Given the description of an element on the screen output the (x, y) to click on. 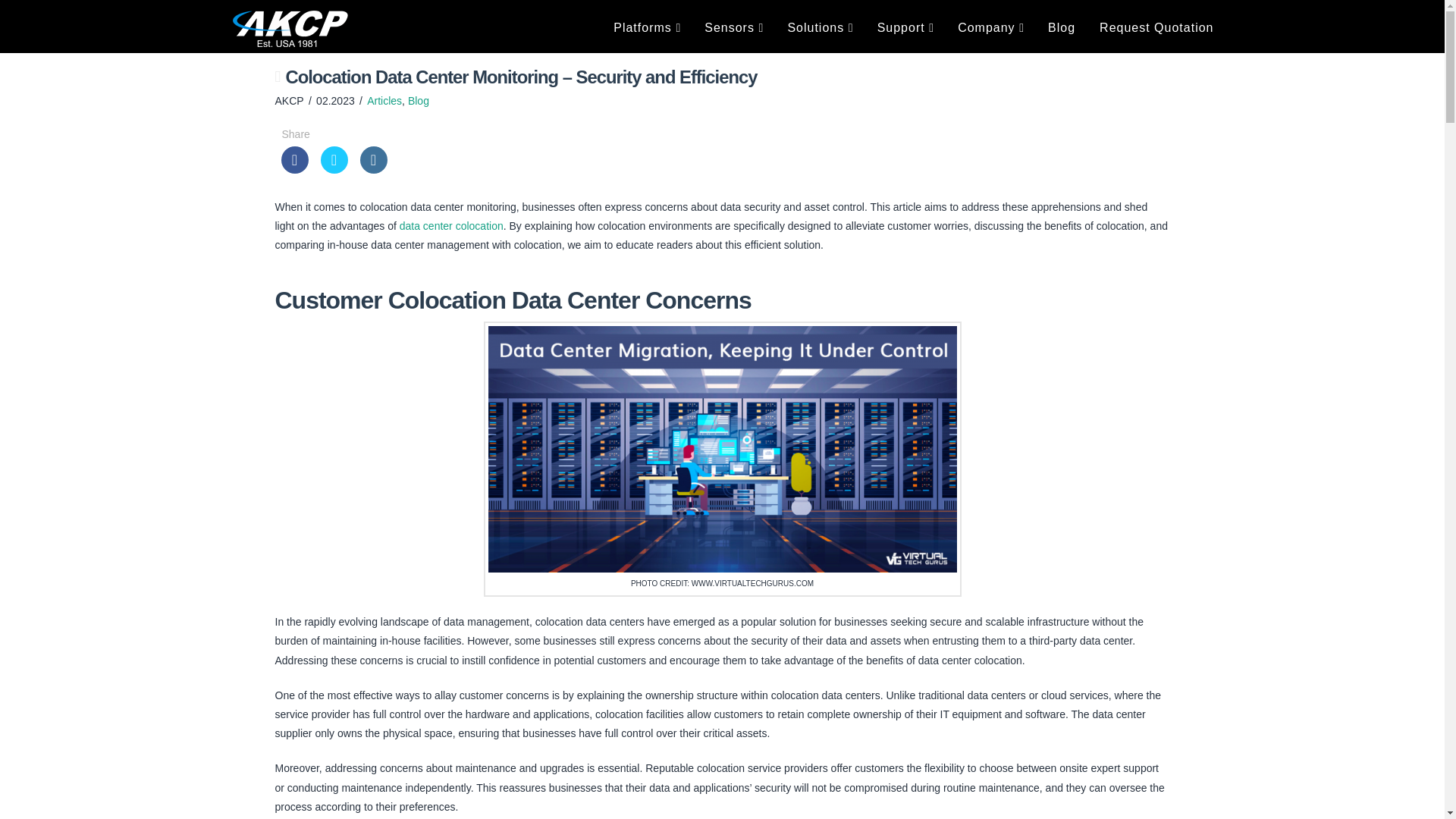
Sensors (733, 27)
Solutions (819, 27)
Platforms (645, 27)
